Given the description of an element on the screen output the (x, y) to click on. 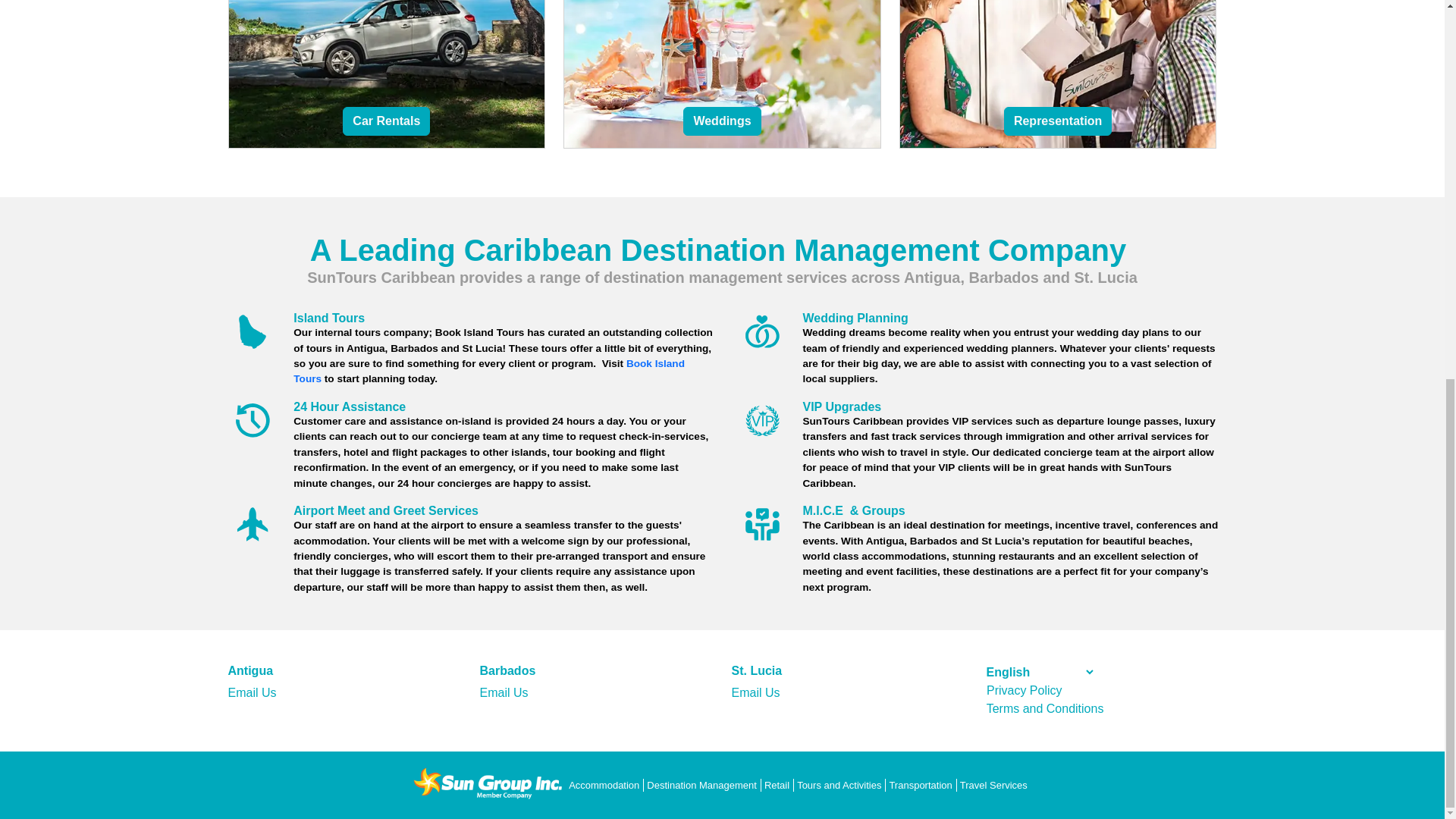
Representation (1058, 121)
Weddings (721, 121)
Antigua (250, 670)
Email Us (503, 692)
Privacy Policy (1024, 689)
St. Lucia (755, 670)
Barbados (507, 670)
Email Us (251, 692)
VIP Upgrades (841, 406)
Island Tours (329, 318)
Car Rentals (385, 121)
Airport Meet and Greet Services (386, 510)
Email Us (754, 692)
24 Hour Assistance (350, 406)
Wedding Planning (854, 318)
